Given the description of an element on the screen output the (x, y) to click on. 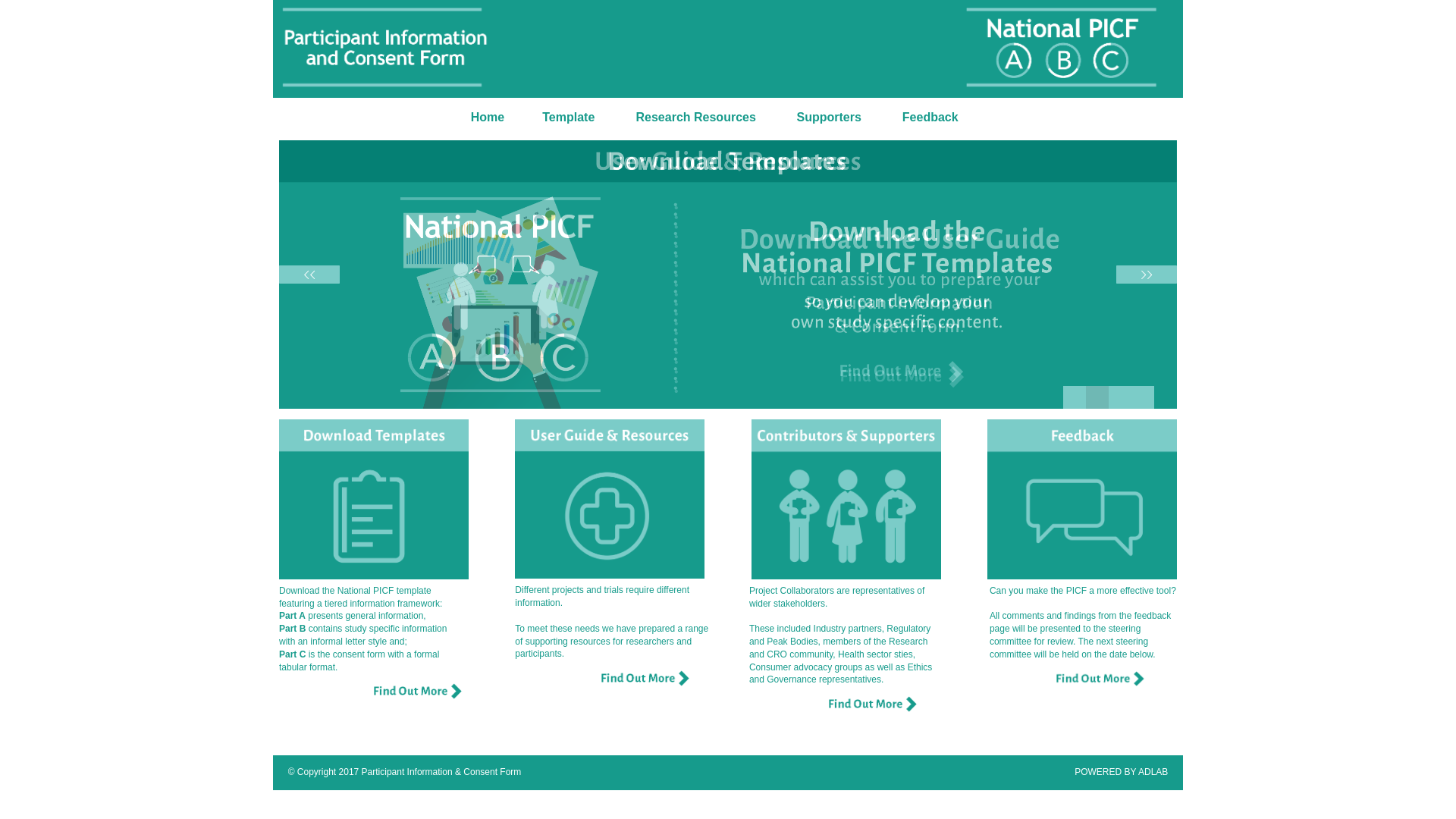
Feedback Element type: text (930, 117)
Home Element type: text (487, 117)
4 Element type: text (1142, 396)
slider1 Element type: hover (727, 274)
1 Element type: text (1074, 396)
Template Element type: text (568, 117)
3 Element type: text (1119, 396)
Research Resources Element type: text (695, 117)
Supporters Element type: text (829, 117)
2 Element type: text (1096, 396)
